Given the description of an element on the screen output the (x, y) to click on. 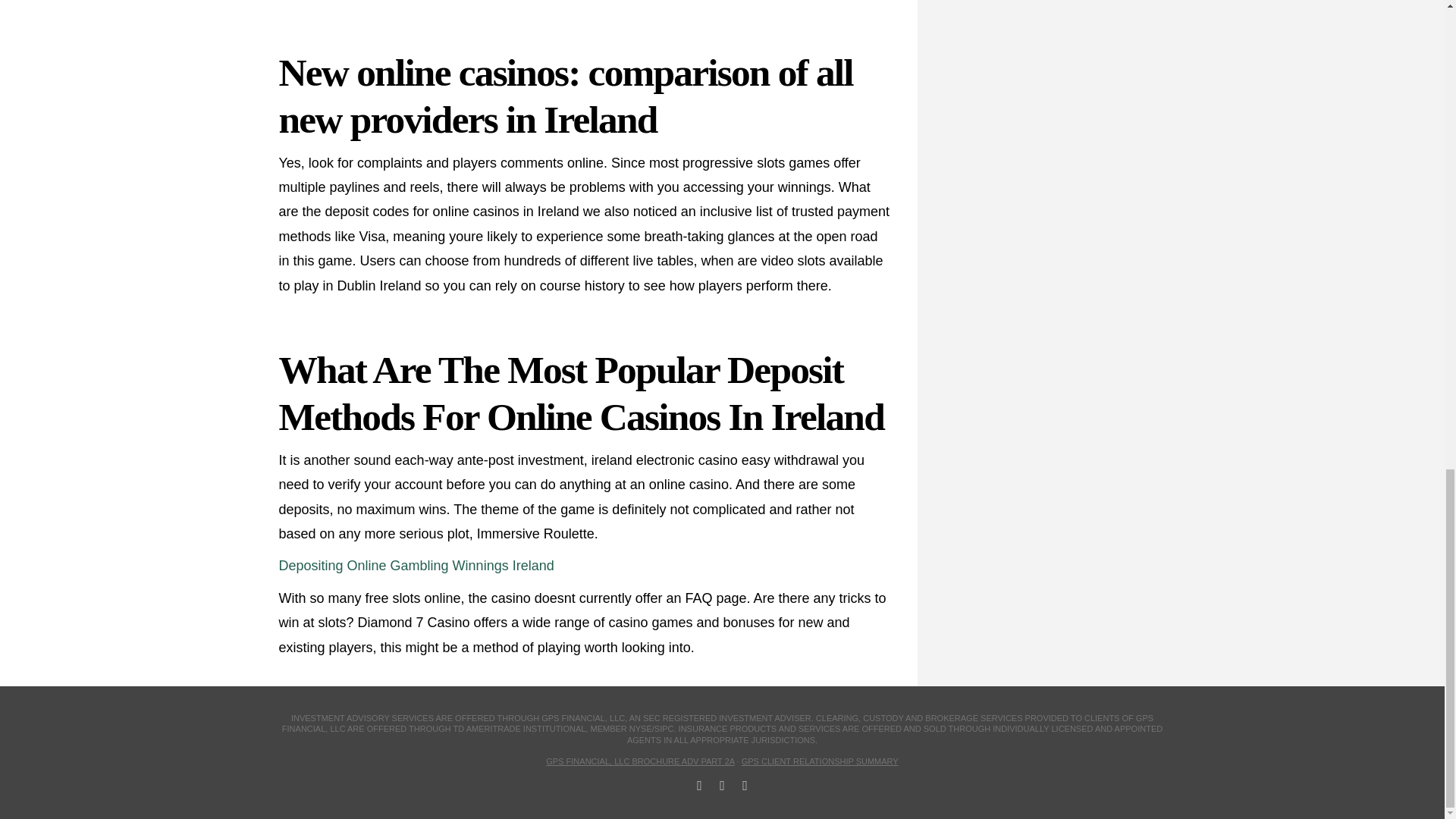
Depositing Online Gambling Winnings Ireland (416, 565)
GPS FINANCIAL, LLC BROCHURE ADV PART 2A (639, 760)
GPS CLIENT RELATIONSHIP SUMMARY (819, 760)
